Given the description of an element on the screen output the (x, y) to click on. 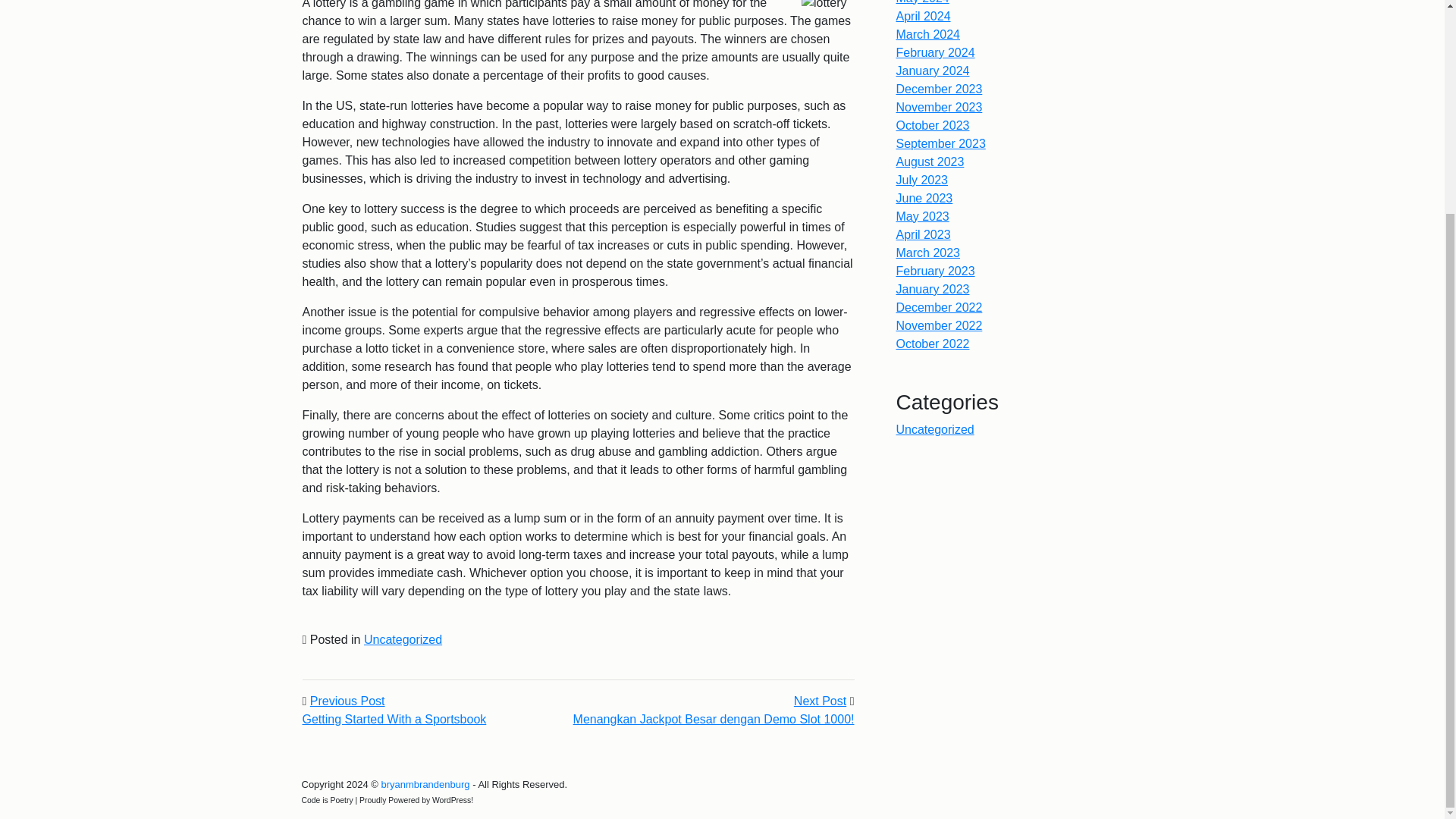
June 2023 (924, 197)
October 2022 (932, 343)
Uncategorized (403, 639)
November 2023 (939, 106)
Getting Started With a Sportsbook (393, 718)
January 2023 (932, 288)
December 2023 (939, 88)
Menangkan Jackpot Besar dengan Demo Slot 1000! (713, 718)
March 2023 (928, 252)
January 2024 (932, 70)
March 2024 (819, 700)
April 2023 (928, 33)
February 2024 (923, 234)
